Given the description of an element on the screen output the (x, y) to click on. 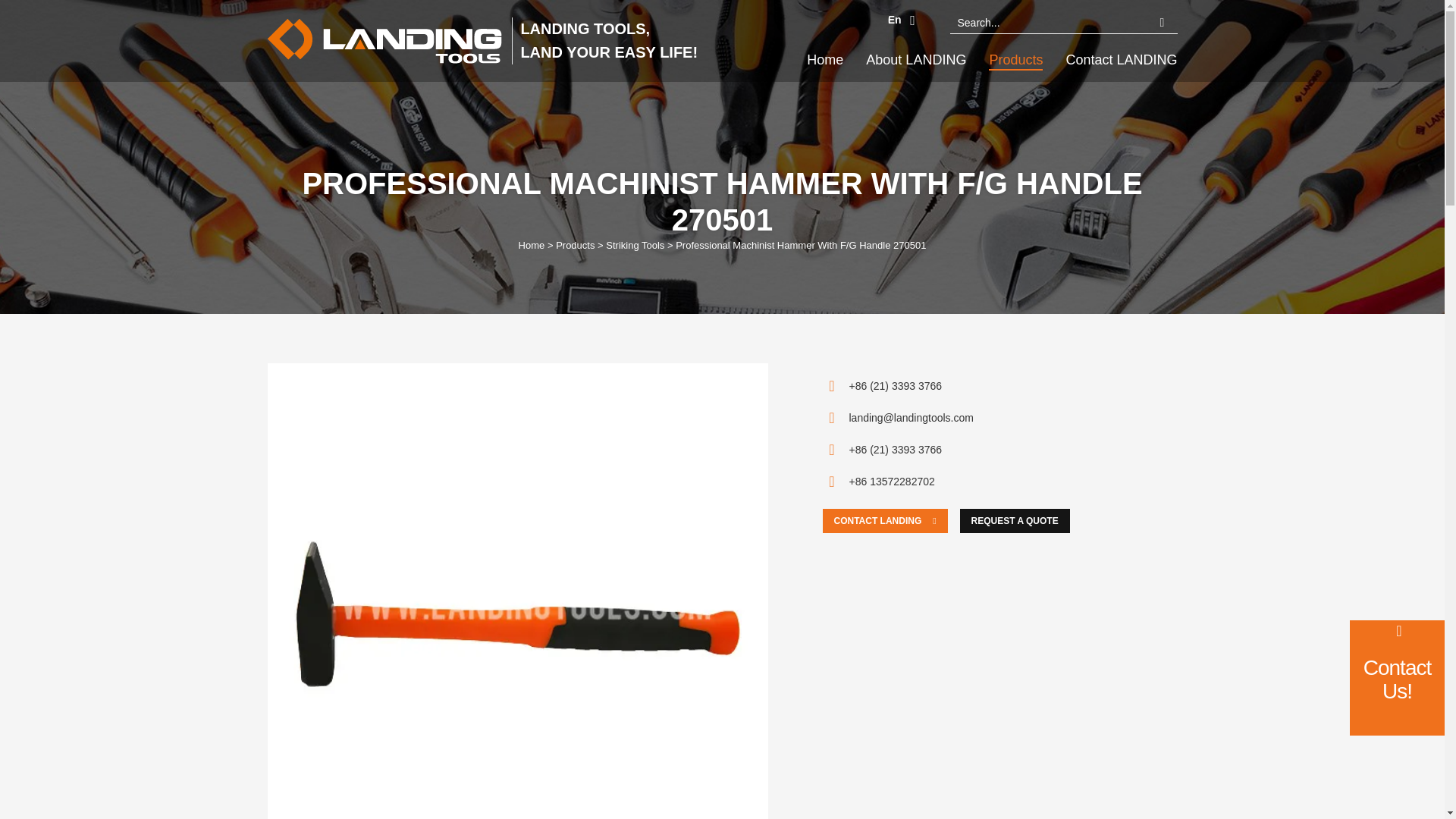
Home (824, 59)
About LANDING (916, 59)
Striking Tools (634, 245)
Contact LANDING (1120, 59)
Products (1015, 59)
Products (575, 245)
Home (531, 245)
